Given the description of an element on the screen output the (x, y) to click on. 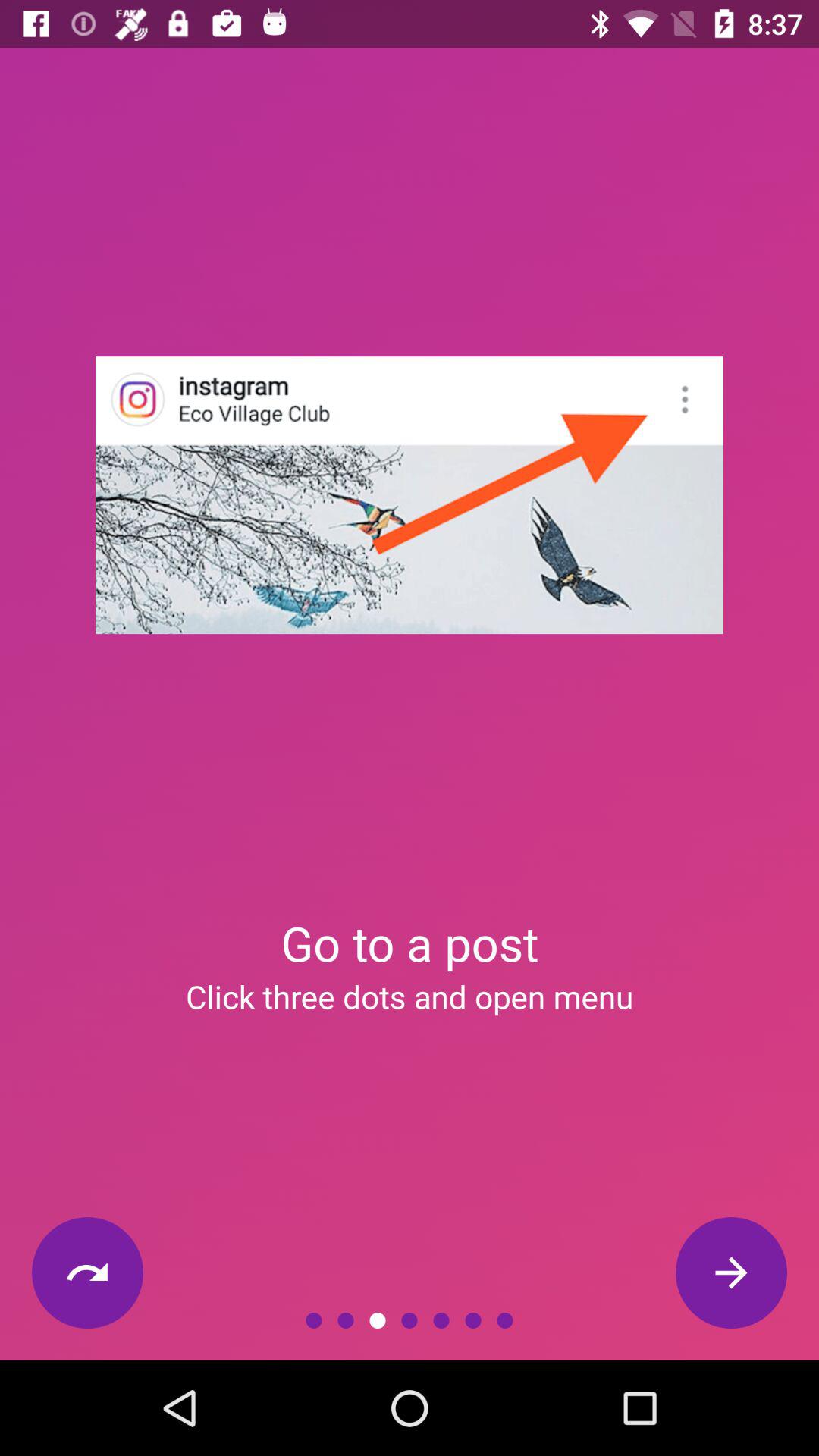
choose the icon below the click three dots (87, 1272)
